Given the description of an element on the screen output the (x, y) to click on. 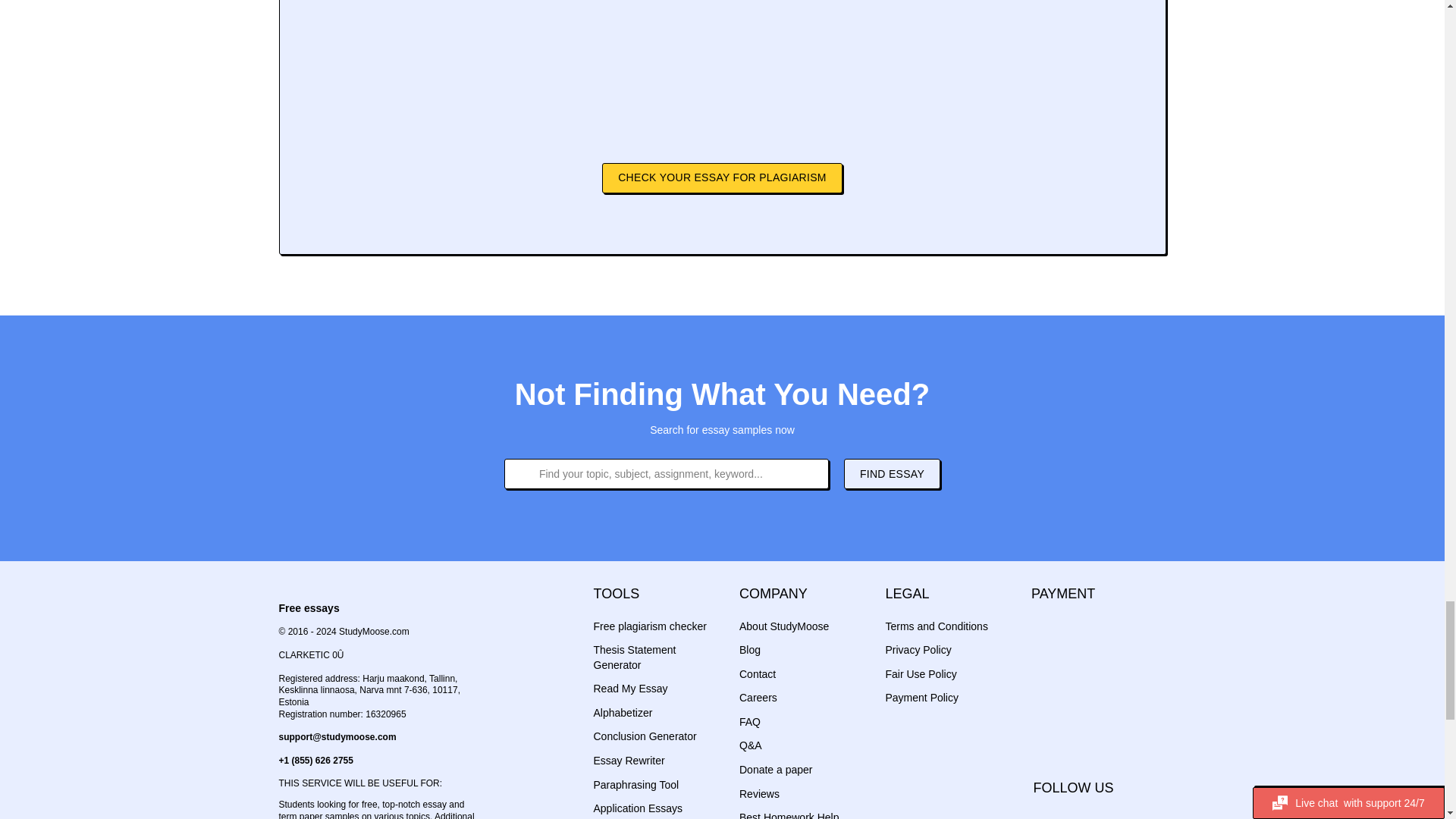
DMCA.com Protection Status (1057, 723)
